Given the description of an element on the screen output the (x, y) to click on. 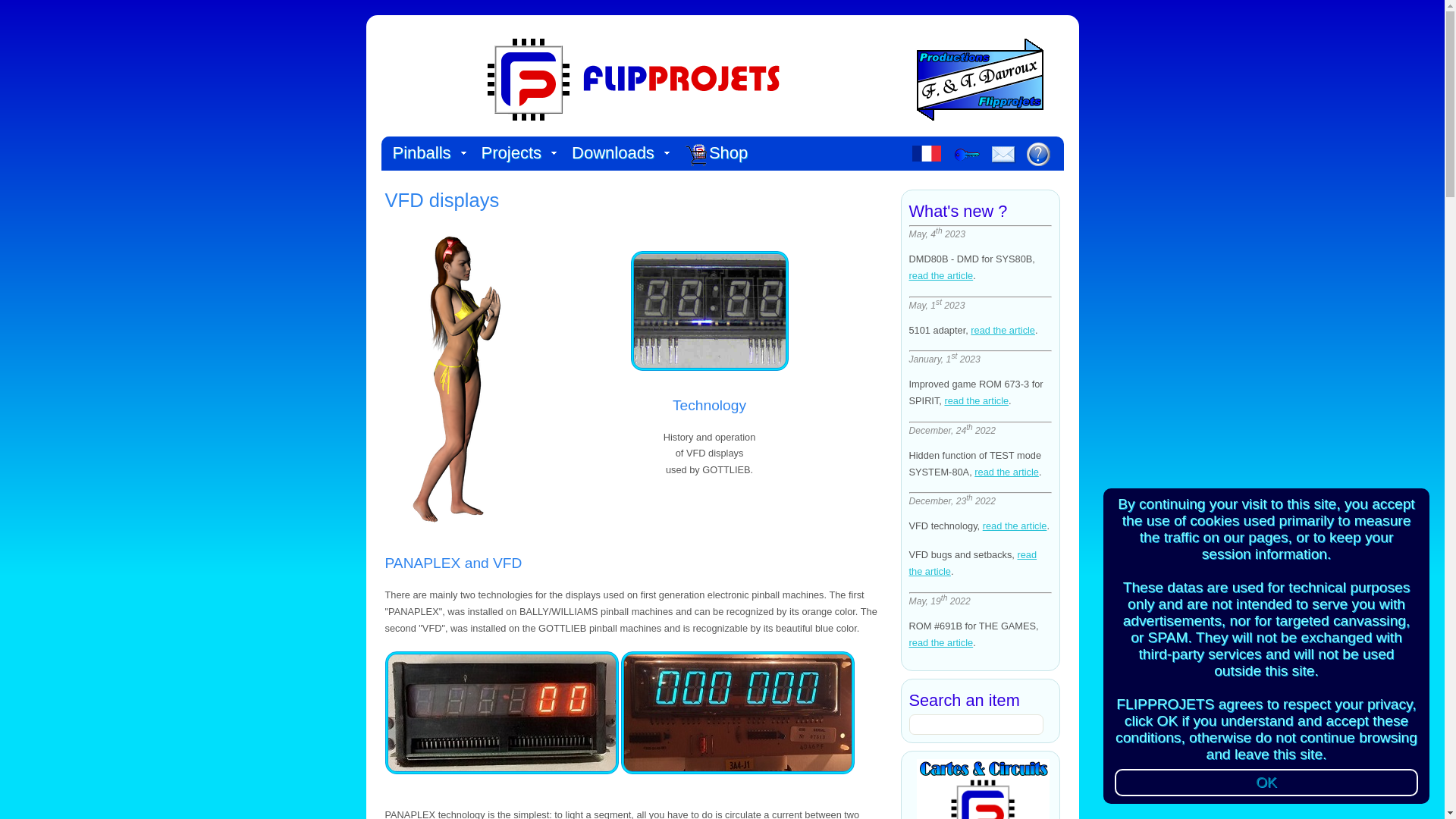
Shop (719, 155)
Login (966, 154)
Shop (696, 155)
read the article (1003, 329)
Pinballs (424, 153)
read the article (976, 400)
read the article (1014, 525)
read the article (940, 642)
Projects (515, 153)
Downloads (616, 153)
read the article (1006, 471)
Contact (1003, 155)
read the article (940, 275)
read the article (972, 562)
About... (1037, 153)
